Given the description of an element on the screen output the (x, y) to click on. 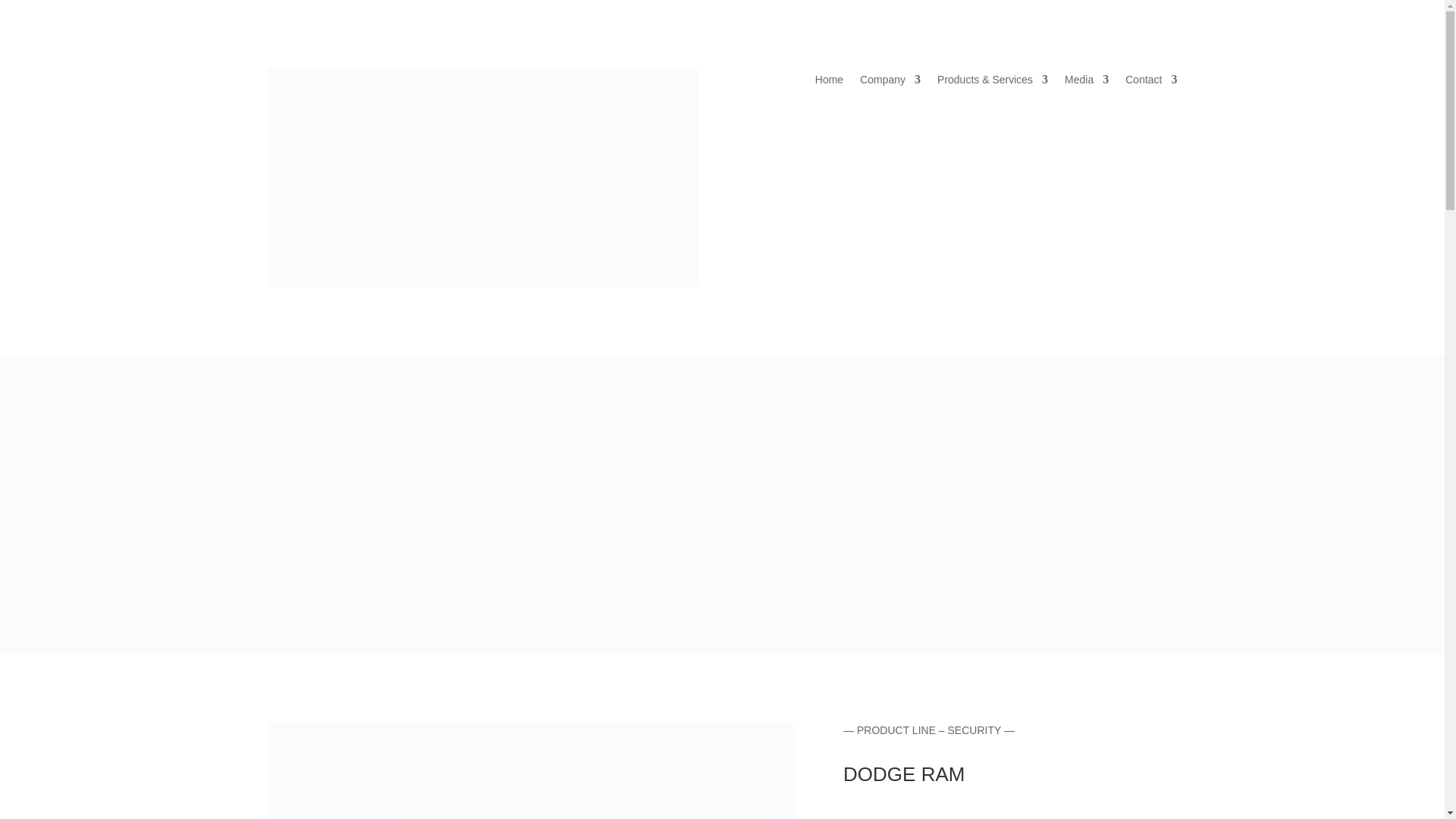
Company (890, 82)
Home (829, 82)
Media (1086, 82)
Contact (1150, 82)
Asset 4streit (481, 176)
